Given the description of an element on the screen output the (x, y) to click on. 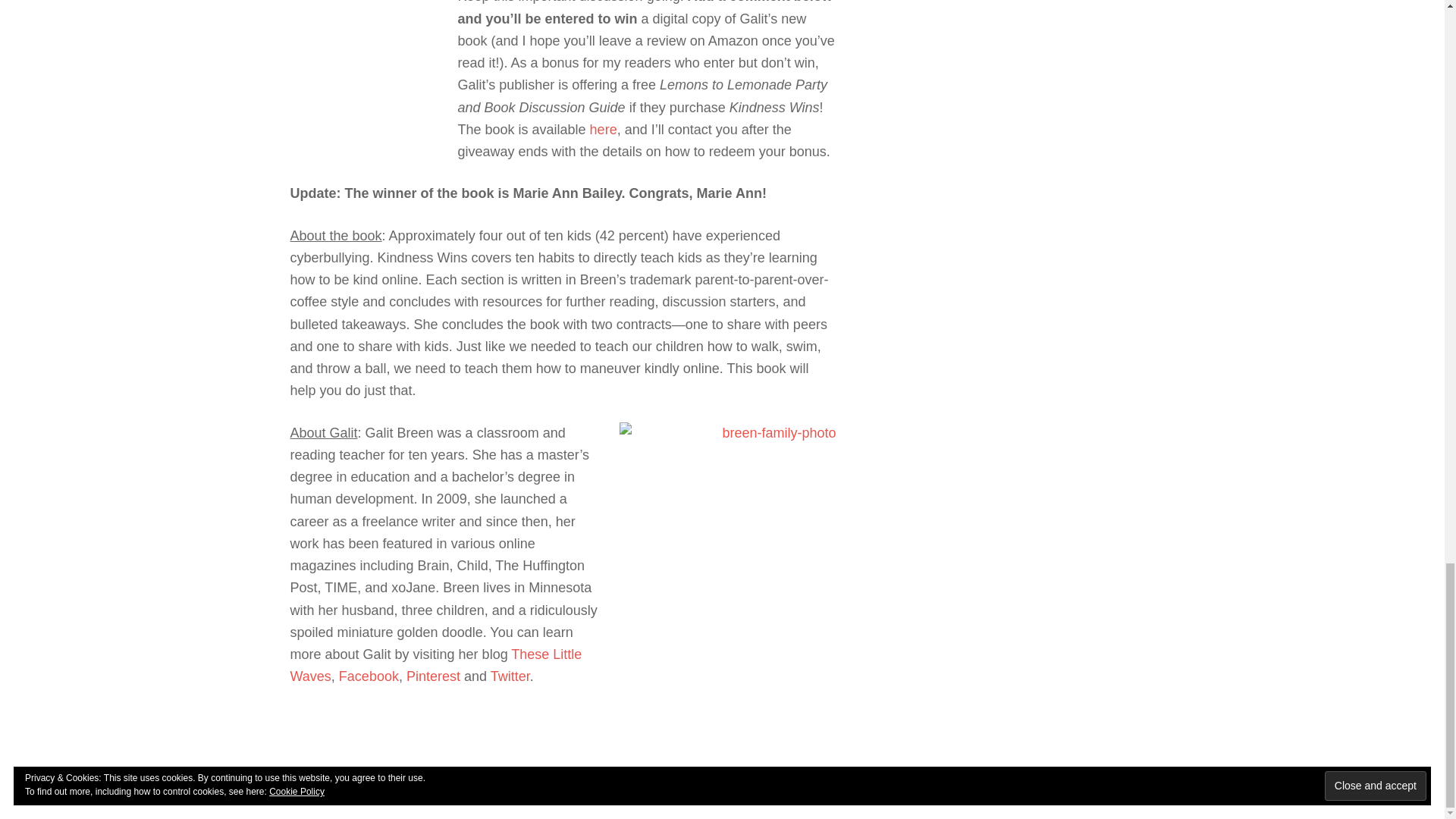
Log in (834, 778)
Galit's Facebook page (368, 676)
Facebook (368, 676)
These Little Waves (434, 665)
Pinterest (433, 676)
Galit's Twitter profile (509, 676)
Galit's Pinterest boards (433, 676)
These Little Waves (434, 665)
Kindness Wins on Amazon (603, 129)
here (603, 129)
